Given the description of an element on the screen output the (x, y) to click on. 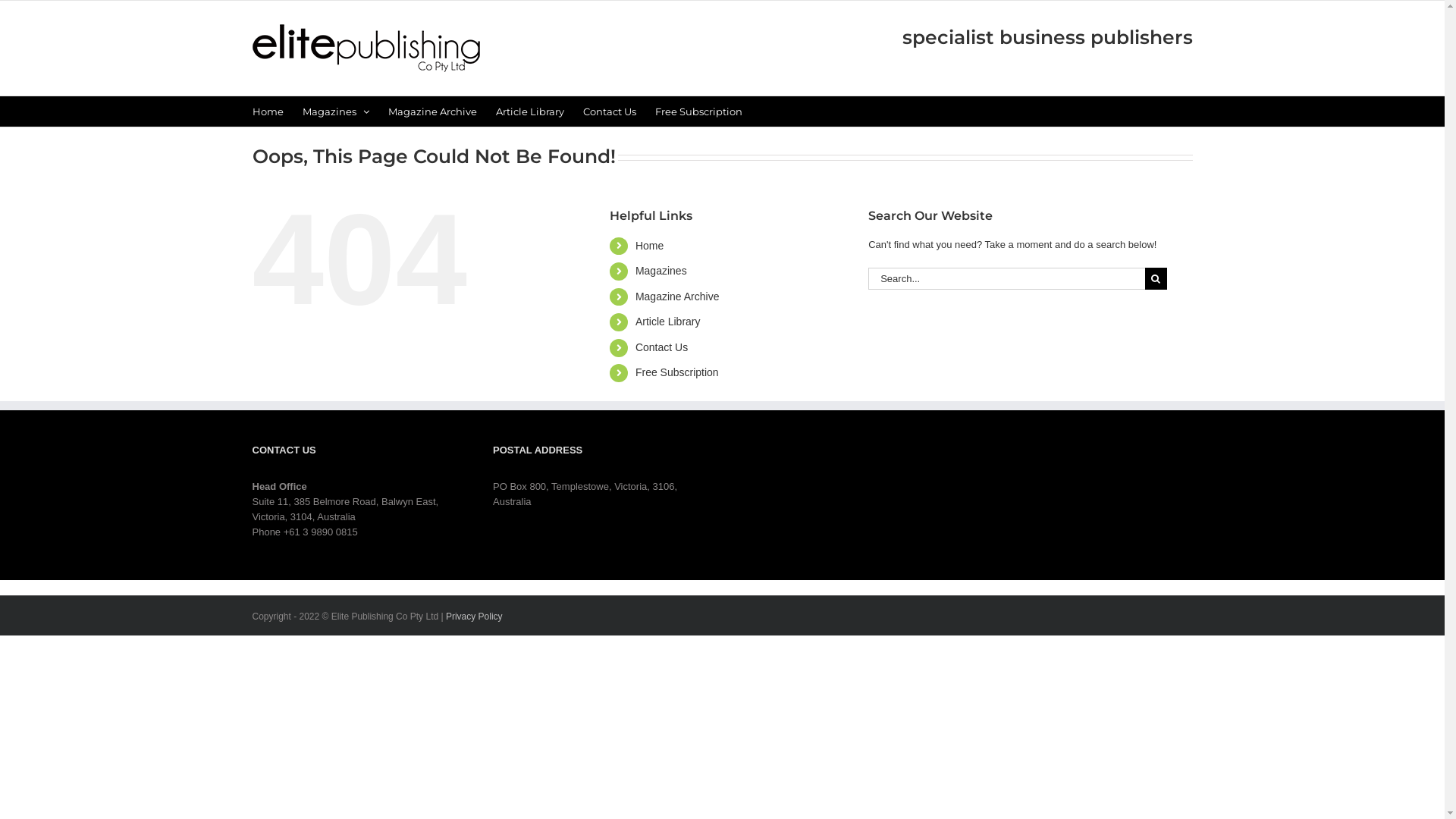
Contact Us Element type: text (661, 347)
Magazine Archive Element type: text (432, 111)
Magazine Archive Element type: text (677, 296)
Privacy Policy Element type: text (473, 616)
Article Library Element type: text (529, 111)
Home Element type: text (266, 111)
Magazines Element type: text (661, 270)
Free Subscription Element type: text (676, 372)
Magazines Element type: text (334, 111)
Home Element type: text (649, 245)
Contact Us Element type: text (608, 111)
Free Subscription Element type: text (698, 111)
Article Library Element type: text (667, 321)
